Given the description of an element on the screen output the (x, y) to click on. 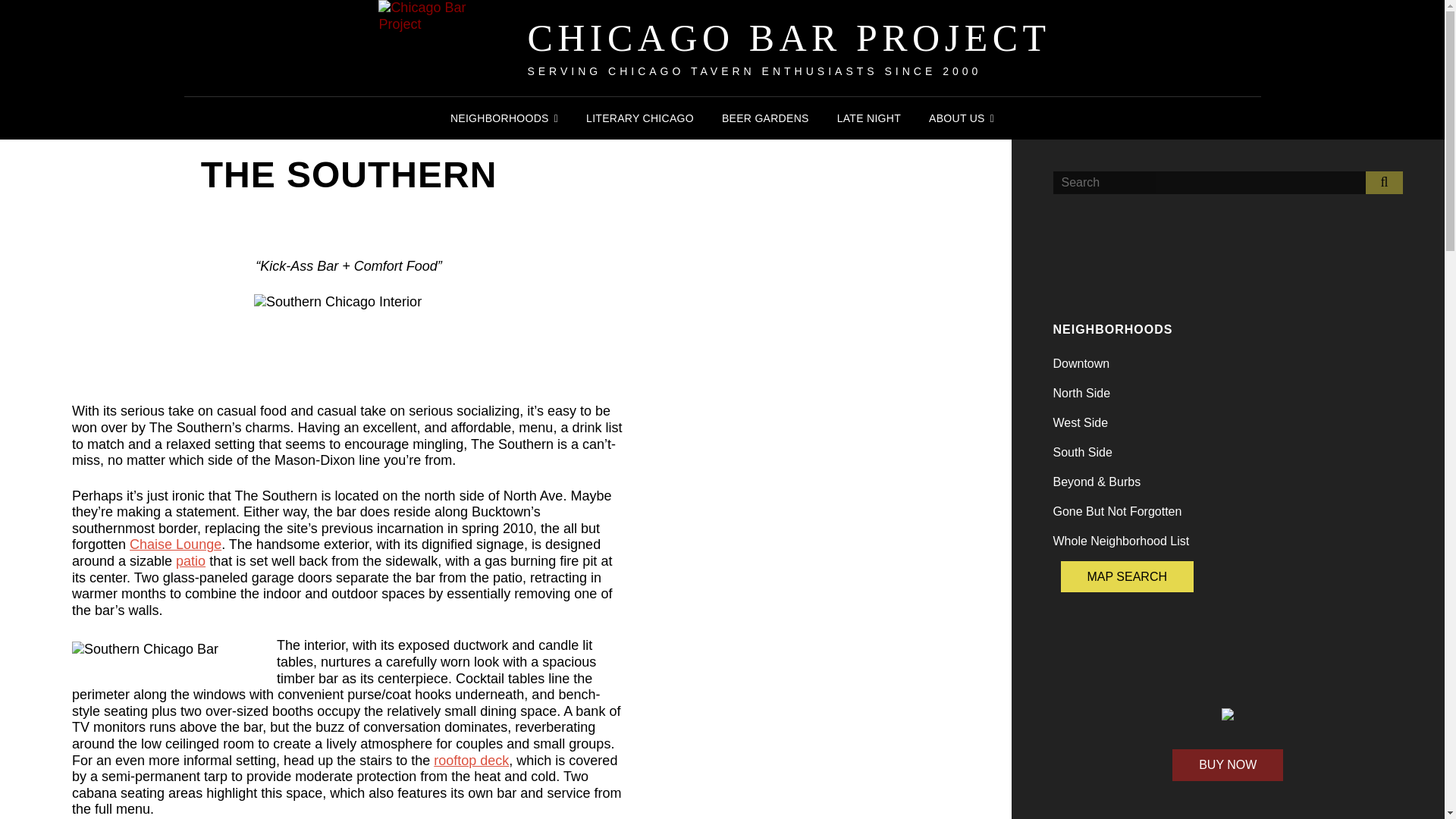
Search (1384, 182)
LITERARY CHICAGO (639, 118)
ABOUT US (961, 118)
West Side (1080, 422)
Gone But Not Forgotten (1116, 511)
BEER GARDENS (765, 118)
Chaise Lounge (175, 544)
South Side (1082, 451)
rooftop deck (470, 760)
patio (190, 560)
